Given the description of an element on the screen output the (x, y) to click on. 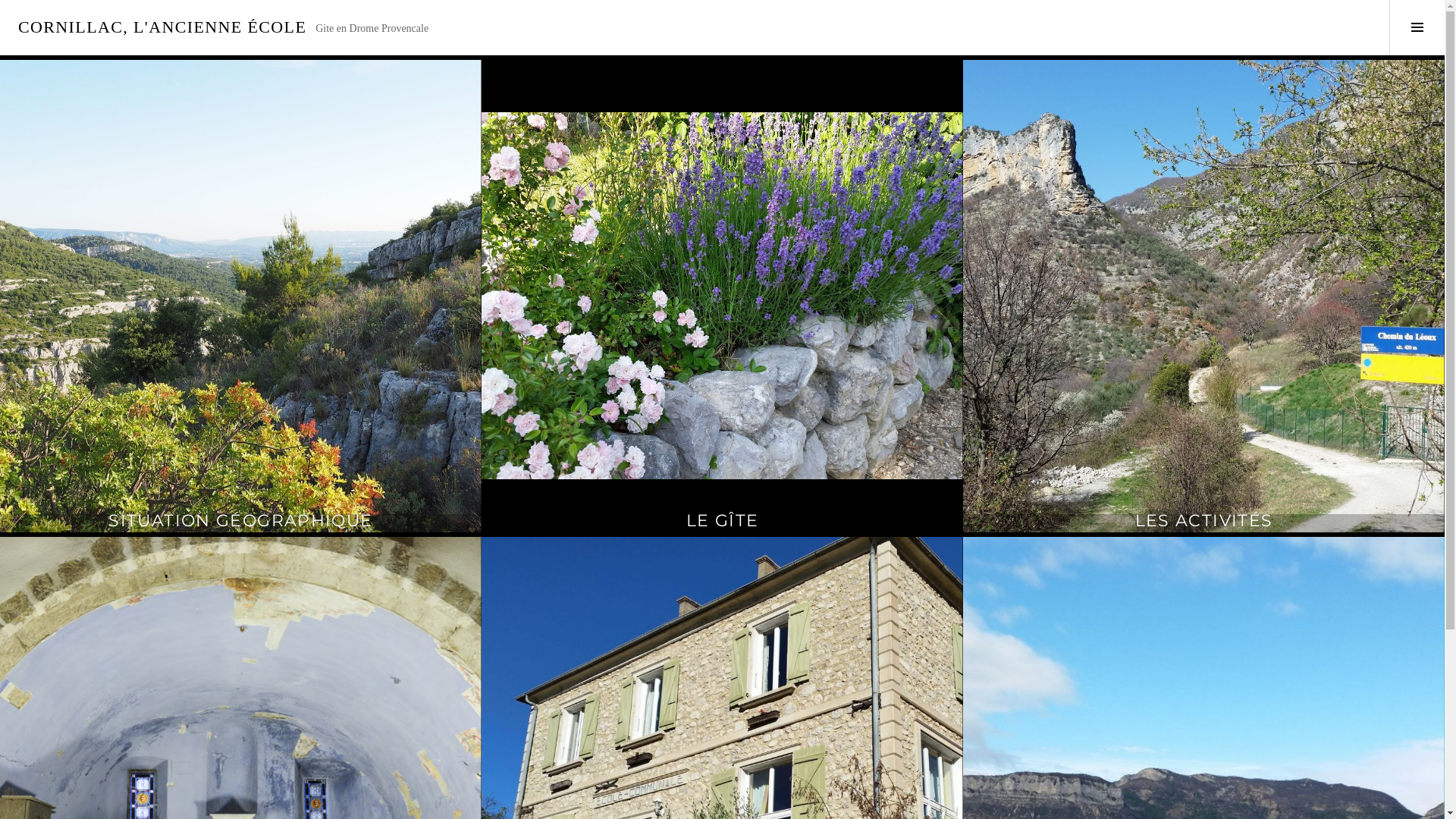
Toggle Sidebar Element type: text (1416, 27)
Aller au contenu principal Element type: text (0, 0)
